Given the description of an element on the screen output the (x, y) to click on. 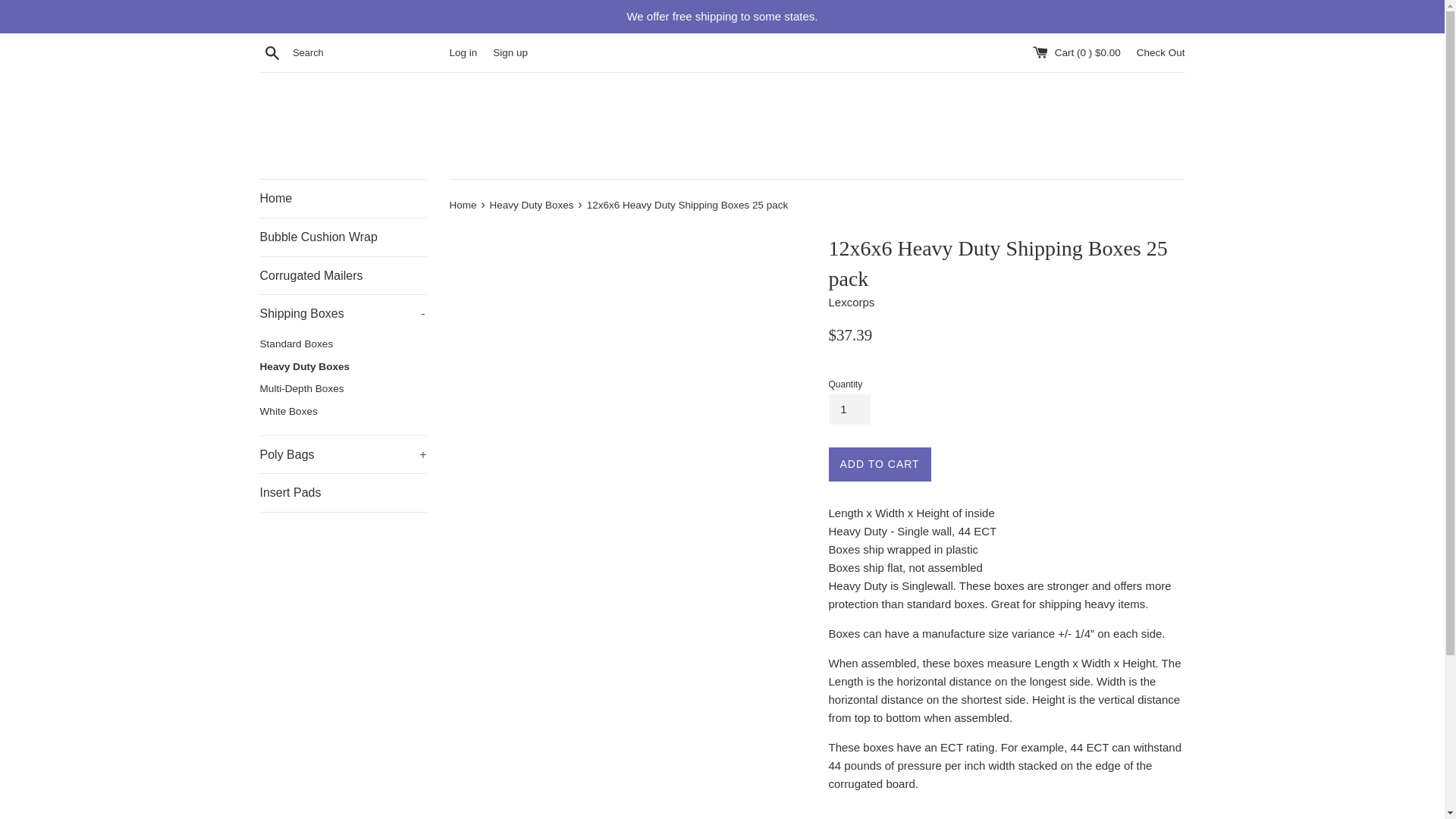
Back to the frontpage (463, 204)
Heavy Duty Boxes (342, 366)
Log in (462, 52)
Standard Boxes (342, 343)
Home (463, 204)
White Boxes (342, 411)
Check Out (1161, 52)
Sign up (342, 313)
Home (510, 52)
Search (342, 198)
Insert Pads (271, 52)
Heavy Duty Boxes (342, 492)
Corrugated Mailers (532, 204)
Bubble Cushion Wrap (342, 275)
